Given the description of an element on the screen output the (x, y) to click on. 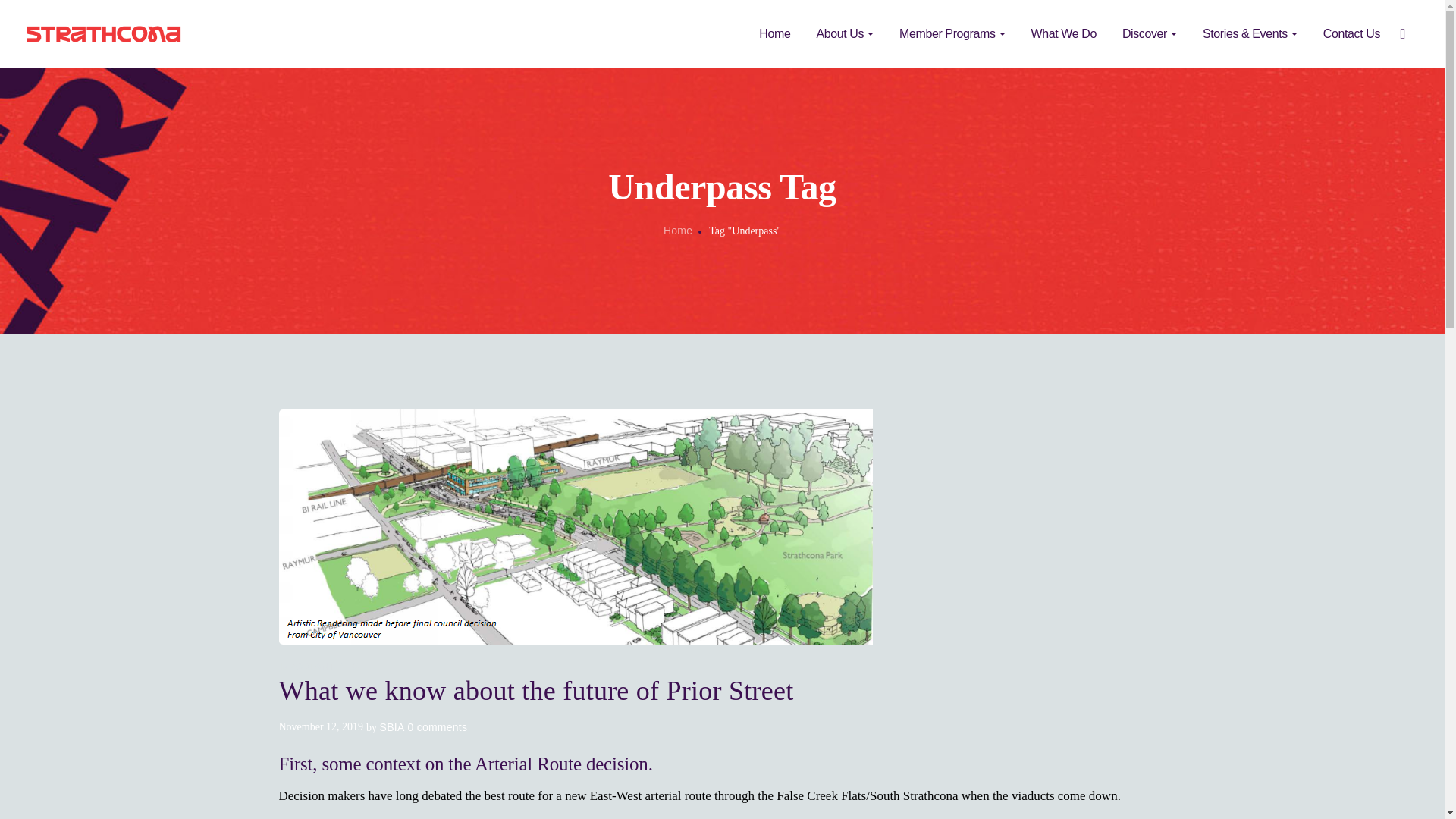
Home (774, 34)
Contact Us (1351, 34)
Member Programs (951, 34)
What We Do (1063, 34)
Discover (1149, 34)
About Us (844, 34)
